Given the description of an element on the screen output the (x, y) to click on. 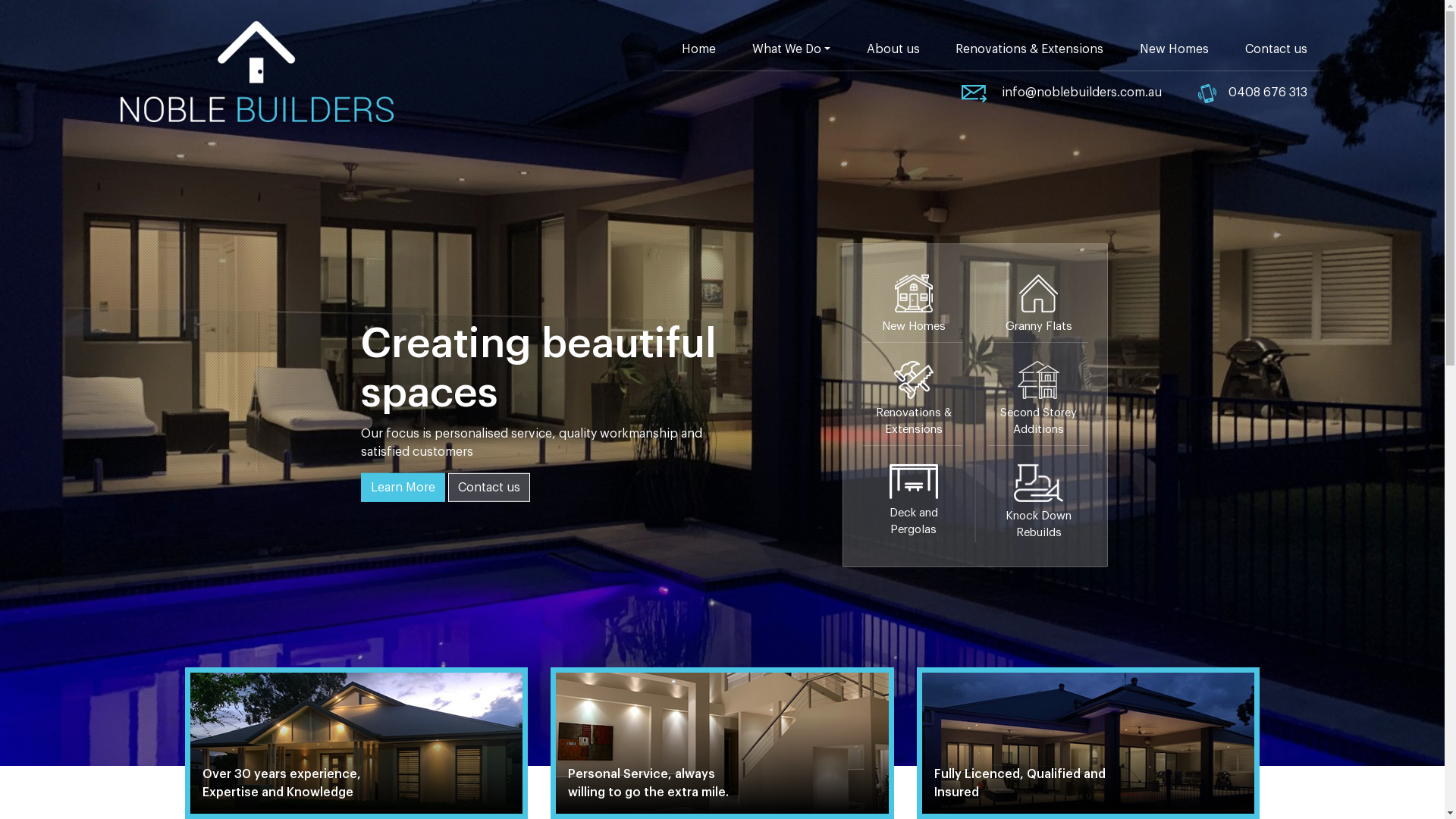
New Homes Element type: text (912, 305)
info@noblebuilders.com.au Element type: text (1060, 92)
Deck and Pergolas Element type: text (912, 499)
Second Storey Additions Element type: text (1037, 399)
Learn More Element type: text (402, 486)
Contact us Element type: text (489, 486)
Knock Down Rebuilds Element type: text (1037, 499)
Home Element type: text (697, 49)
New Homes Element type: text (1173, 49)
About us Element type: text (891, 49)
Granny Flats Element type: text (1037, 305)
Contact us Element type: text (1274, 49)
What We Do Element type: text (789, 49)
Renovations & Extensions Element type: text (912, 399)
Renovations & Extensions Element type: text (1028, 49)
0408 676 313 Element type: text (1251, 92)
